Given the description of an element on the screen output the (x, y) to click on. 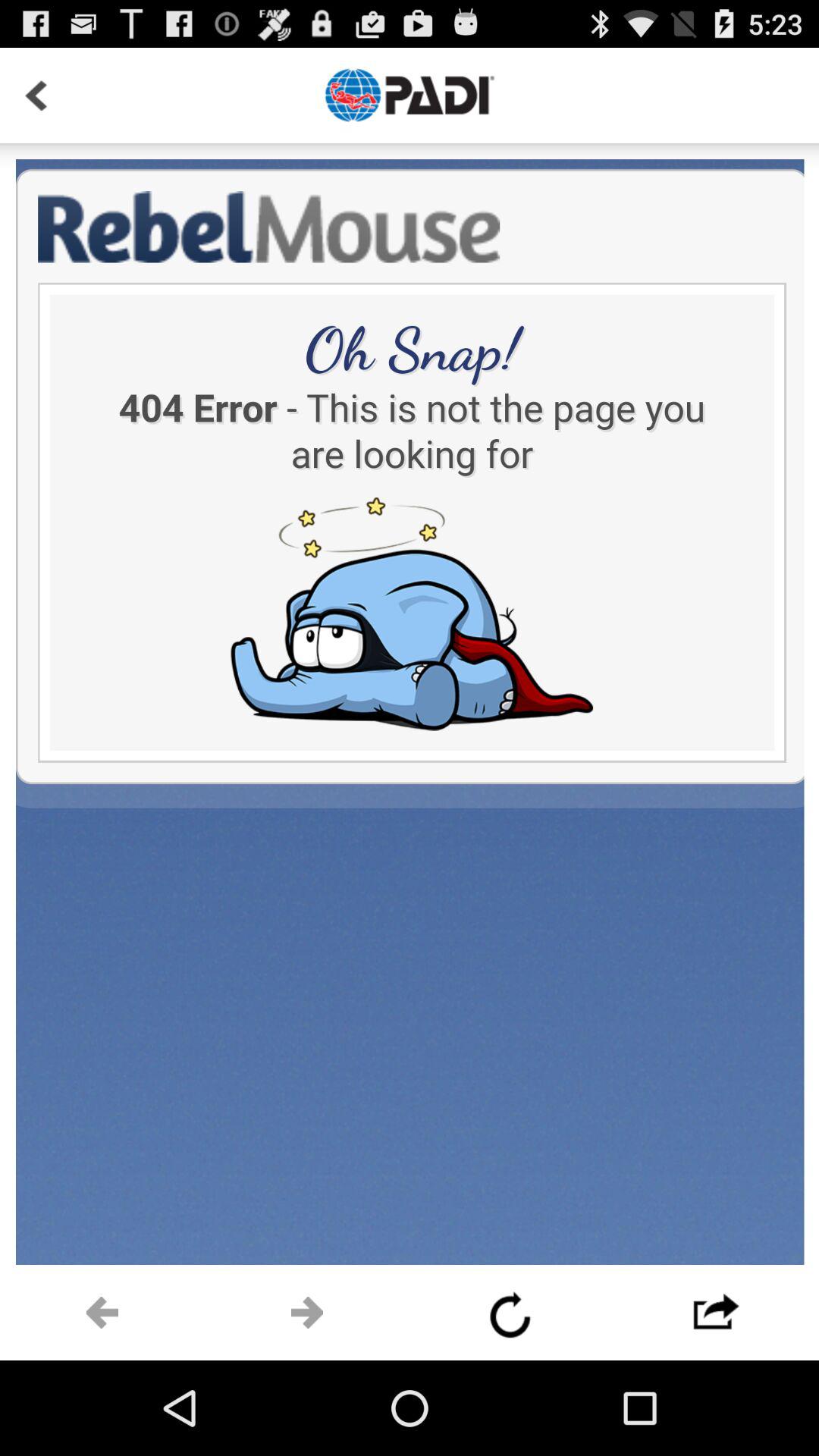
go to previous (102, 1312)
